Given the description of an element on the screen output the (x, y) to click on. 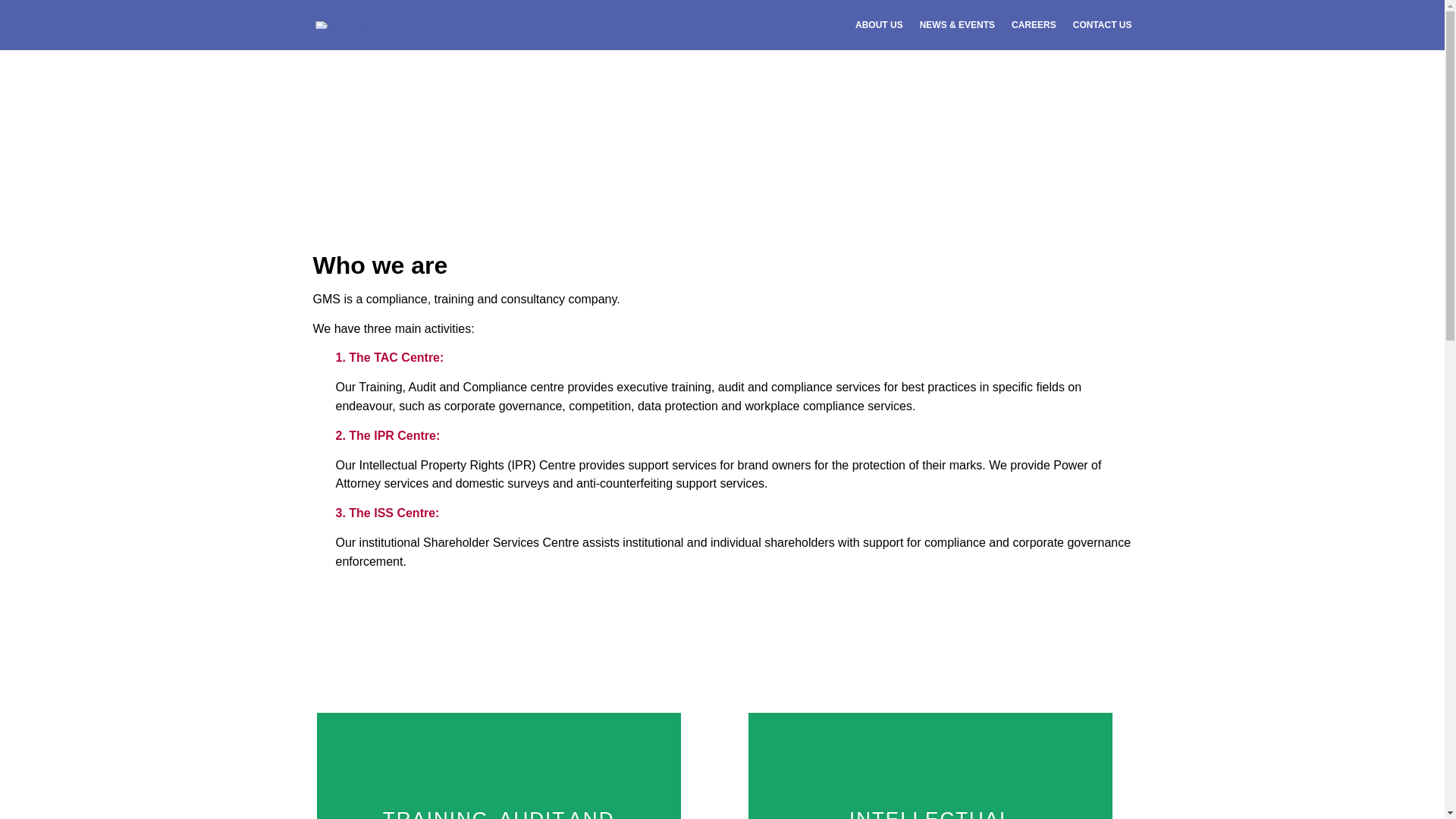
CONTACT US (1102, 34)
ABOUT US (879, 34)
CAREERS (1034, 34)
INTELLECTUAL PROPERTY (929, 813)
TRAINING, AUDIT AND COMPLIANCE (498, 813)
